Given the description of an element on the screen output the (x, y) to click on. 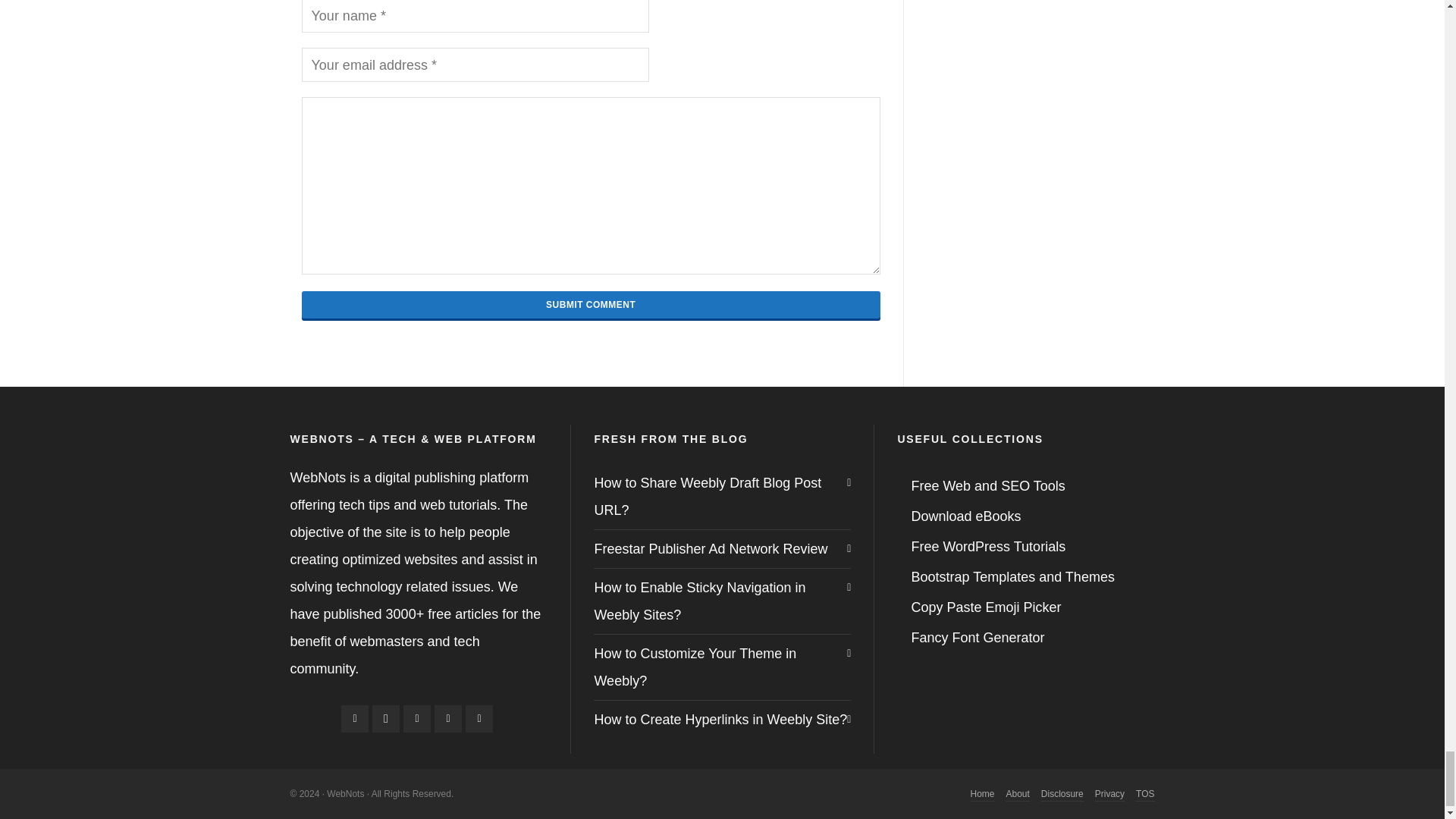
Submit Comment (590, 304)
